Given the description of an element on the screen output the (x, y) to click on. 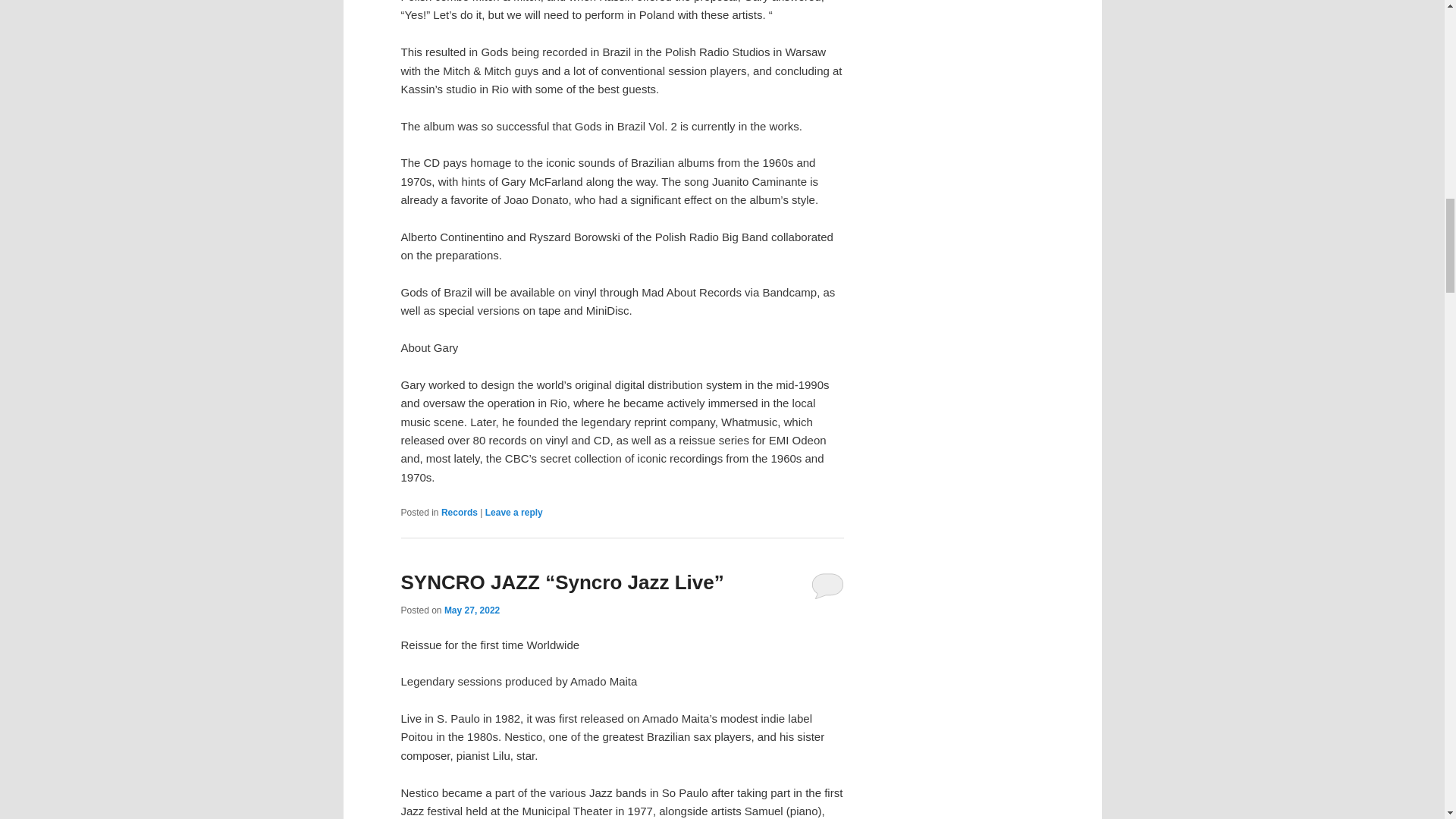
May 27, 2022 (471, 610)
Records (459, 511)
11:31 am (471, 610)
Leave a reply (513, 511)
